Given the description of an element on the screen output the (x, y) to click on. 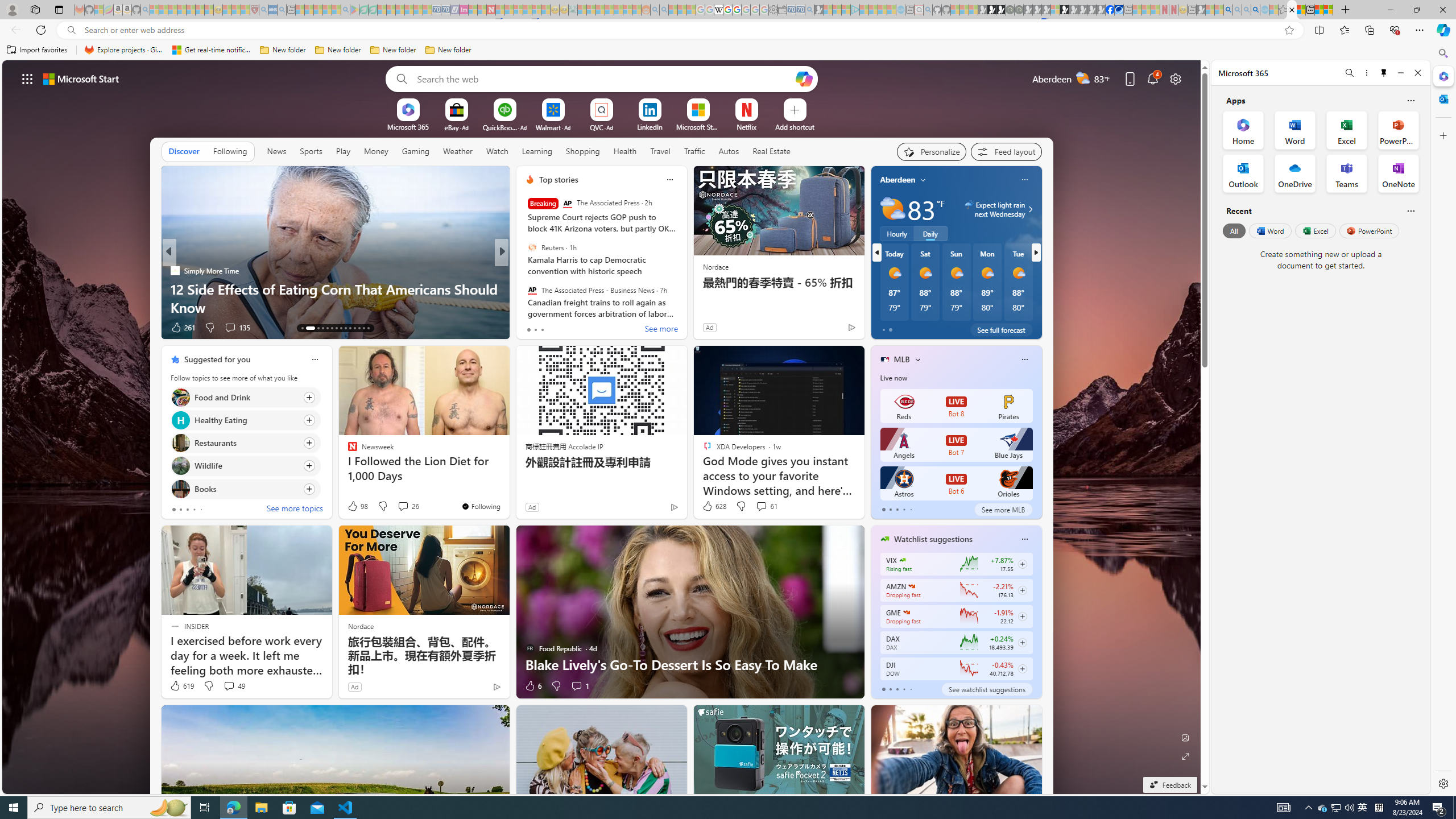
AutomationID: tab-21 (345, 328)
Watch (496, 151)
Kinda Frugal - MSN - Sleeping (617, 9)
AutomationID: tab-23 (354, 328)
GAMESTOP CORP. (906, 612)
AutomationID: tab-20 (340, 328)
Word Office App (1295, 129)
New tab - Sleeping (1191, 9)
Following (229, 151)
Angels LIVE Bot 7 Blue Jays (955, 444)
Feedback (1169, 784)
google - Search - Sleeping (345, 9)
